Given the description of an element on the screen output the (x, y) to click on. 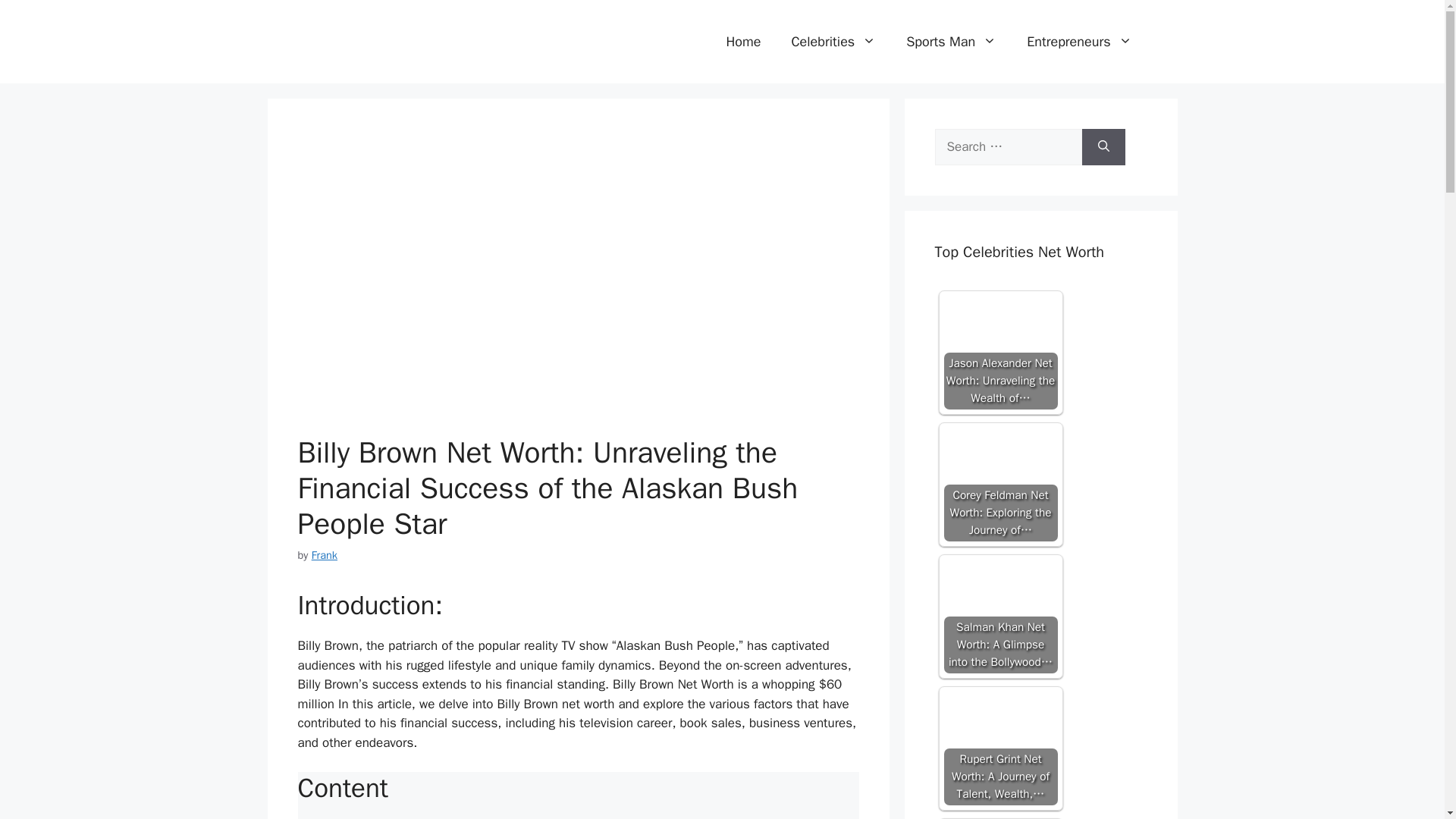
Home (743, 41)
Sports Man (951, 41)
Celebrities (833, 41)
Frank (324, 554)
Entrepreneurs (1079, 41)
View all posts by Frank (324, 554)
